Given the description of an element on the screen output the (x, y) to click on. 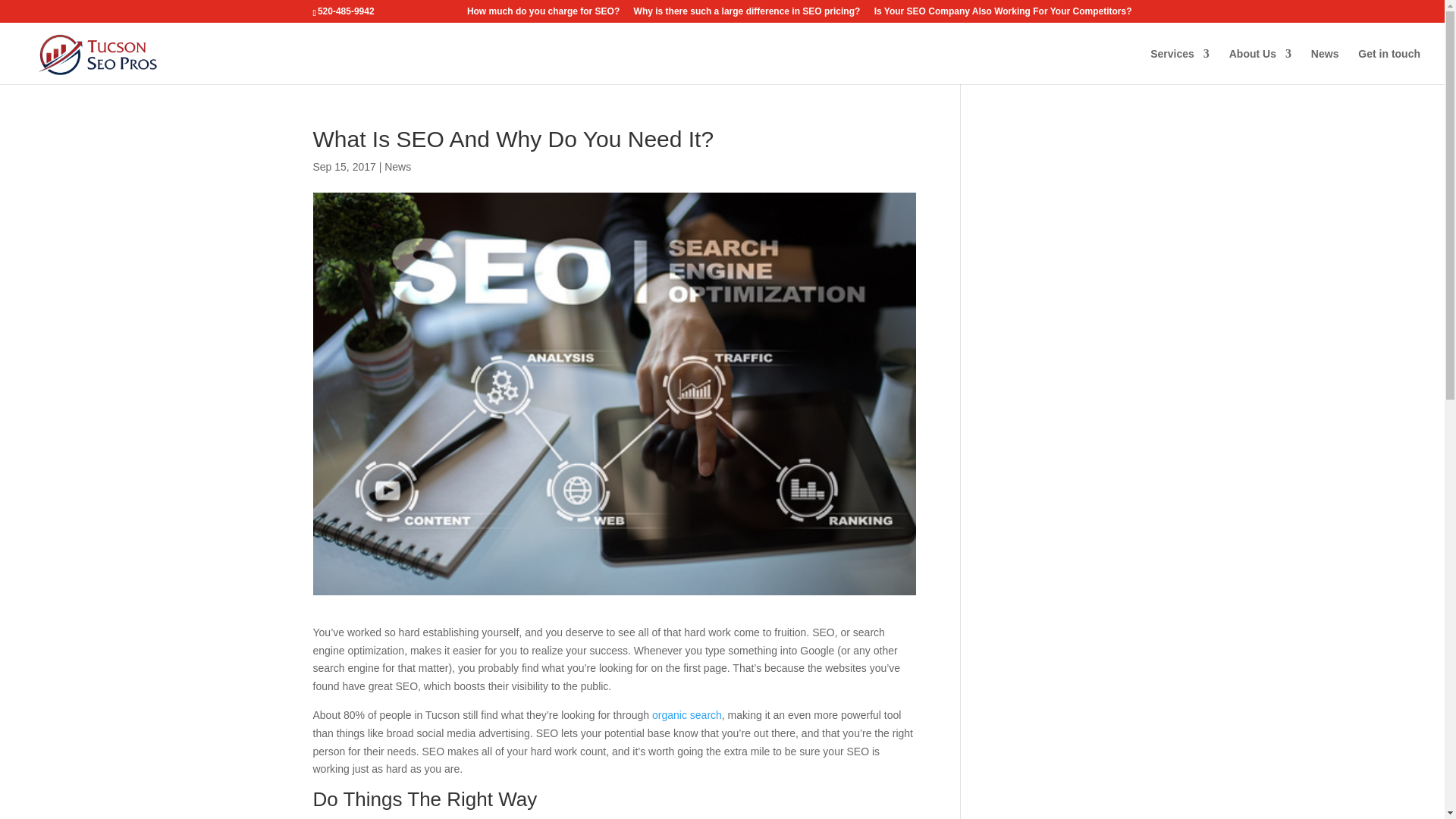
Get in touch (1389, 66)
About Us (1259, 66)
How much do you charge for SEO? (543, 14)
Is Your SEO Company Also Working For Your Competitors? (1003, 14)
organic search (687, 715)
News (397, 166)
Why is there such a large difference in SEO pricing? (746, 14)
520-485-9942 (345, 10)
Services (1179, 66)
